Given the description of an element on the screen output the (x, y) to click on. 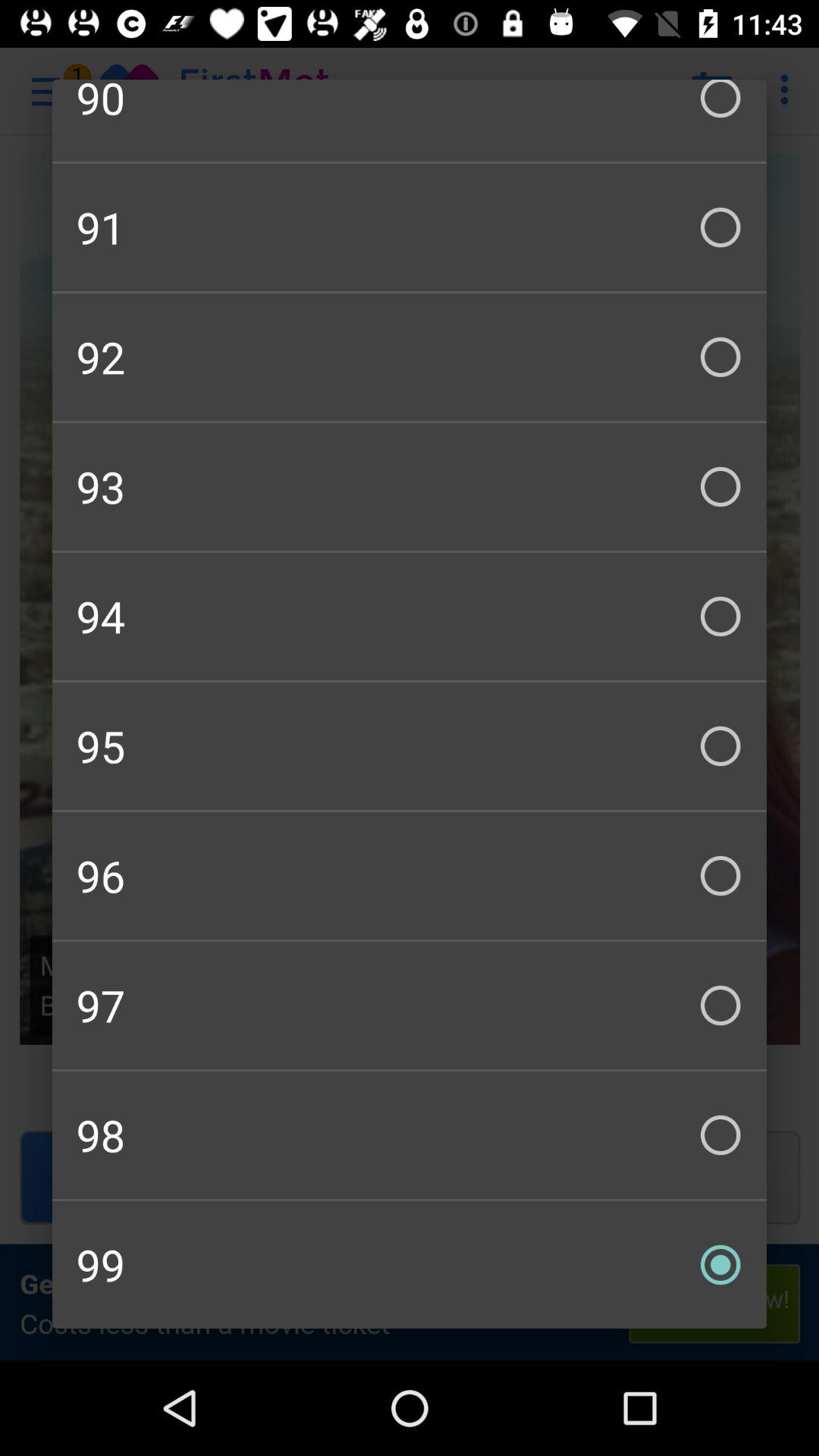
turn on item above the 93 (409, 356)
